Given the description of an element on the screen output the (x, y) to click on. 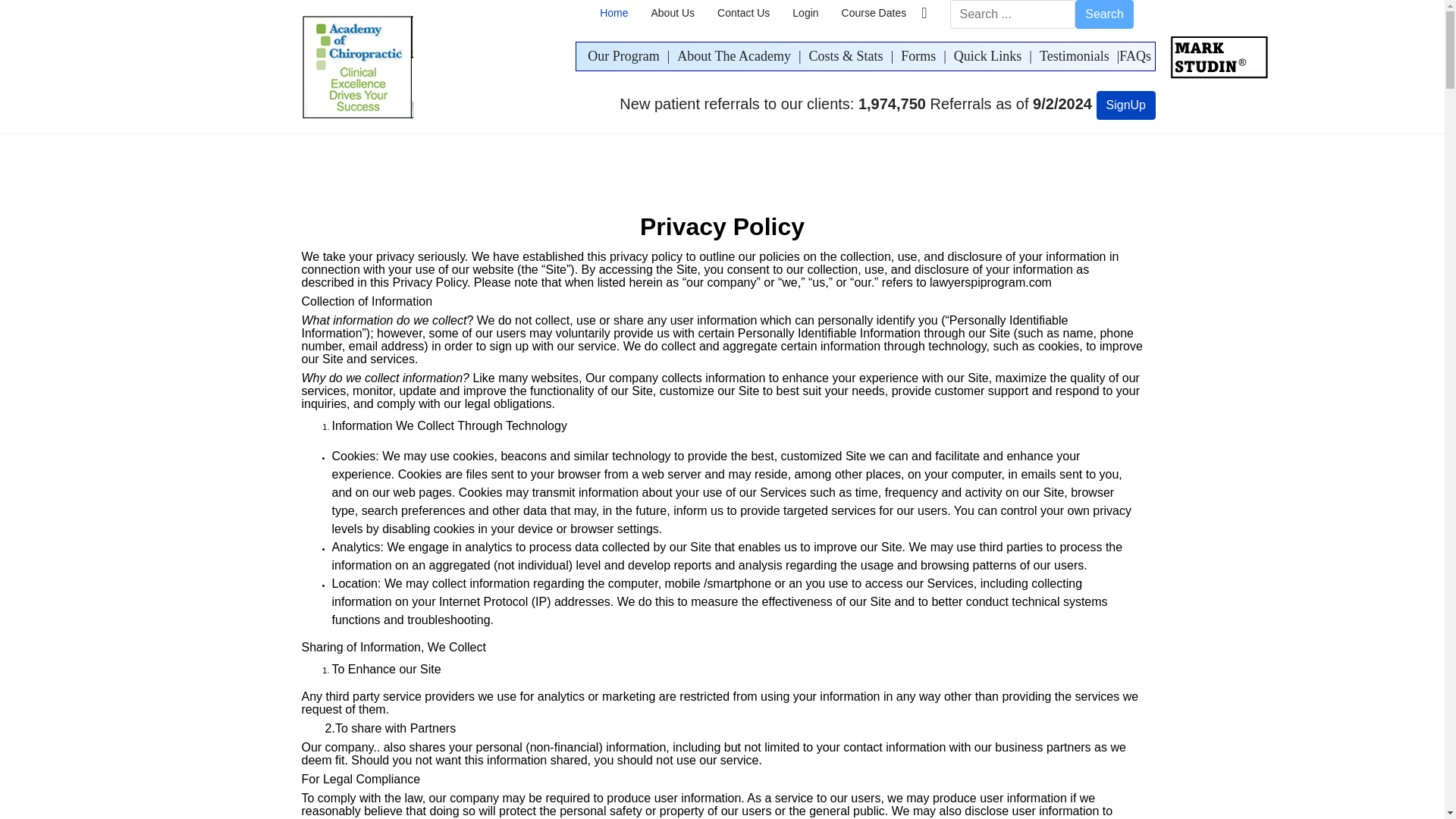
About The Academy (733, 55)
Login (804, 13)
Quick Links (987, 55)
Testimonials (1074, 55)
Search (1104, 14)
Home (613, 13)
Contact Us (743, 13)
Our Program (623, 55)
Course Dates (873, 13)
SignUp (1126, 104)
